Given the description of an element on the screen output the (x, y) to click on. 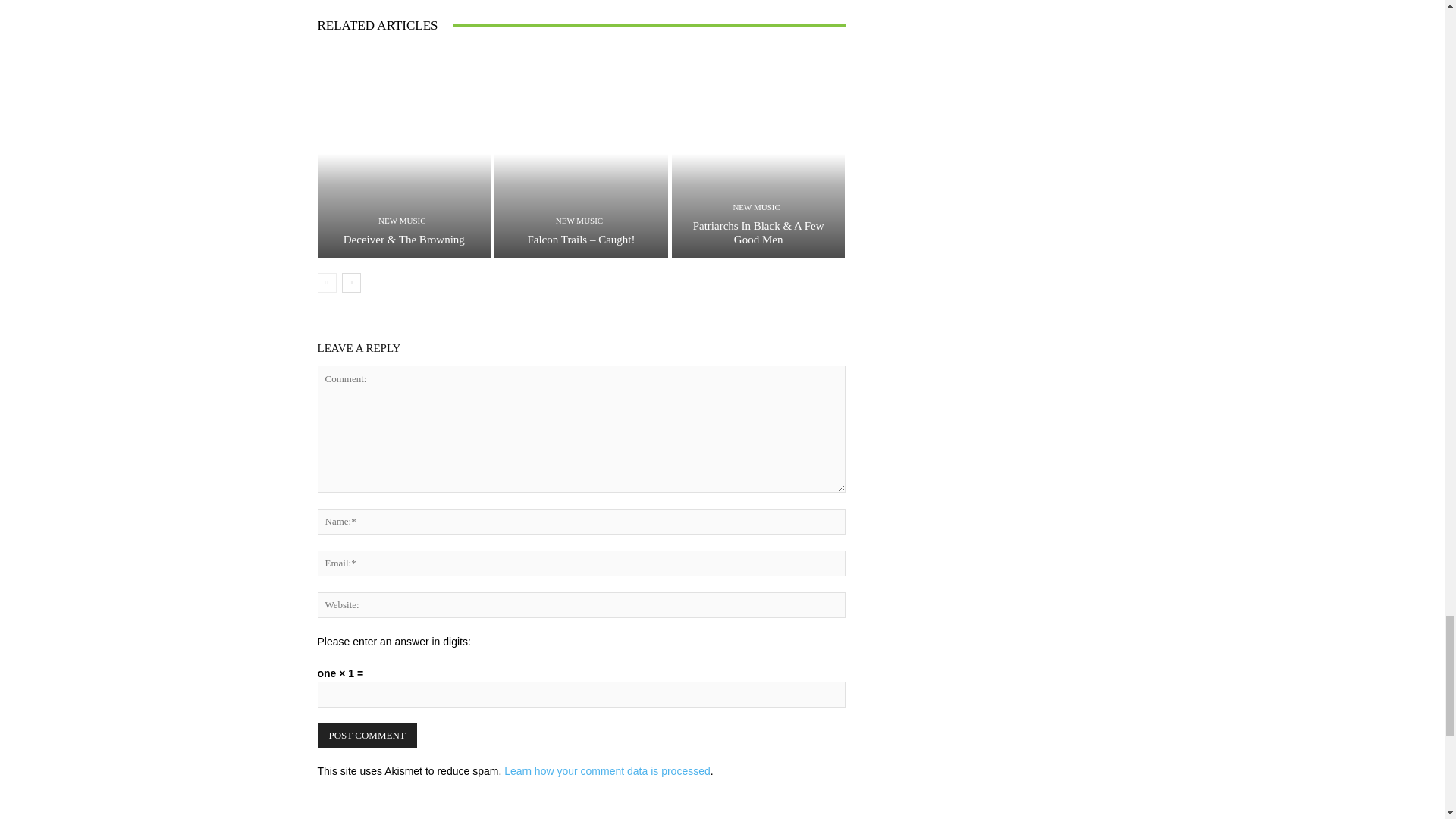
Post Comment (366, 735)
